Given the description of an element on the screen output the (x, y) to click on. 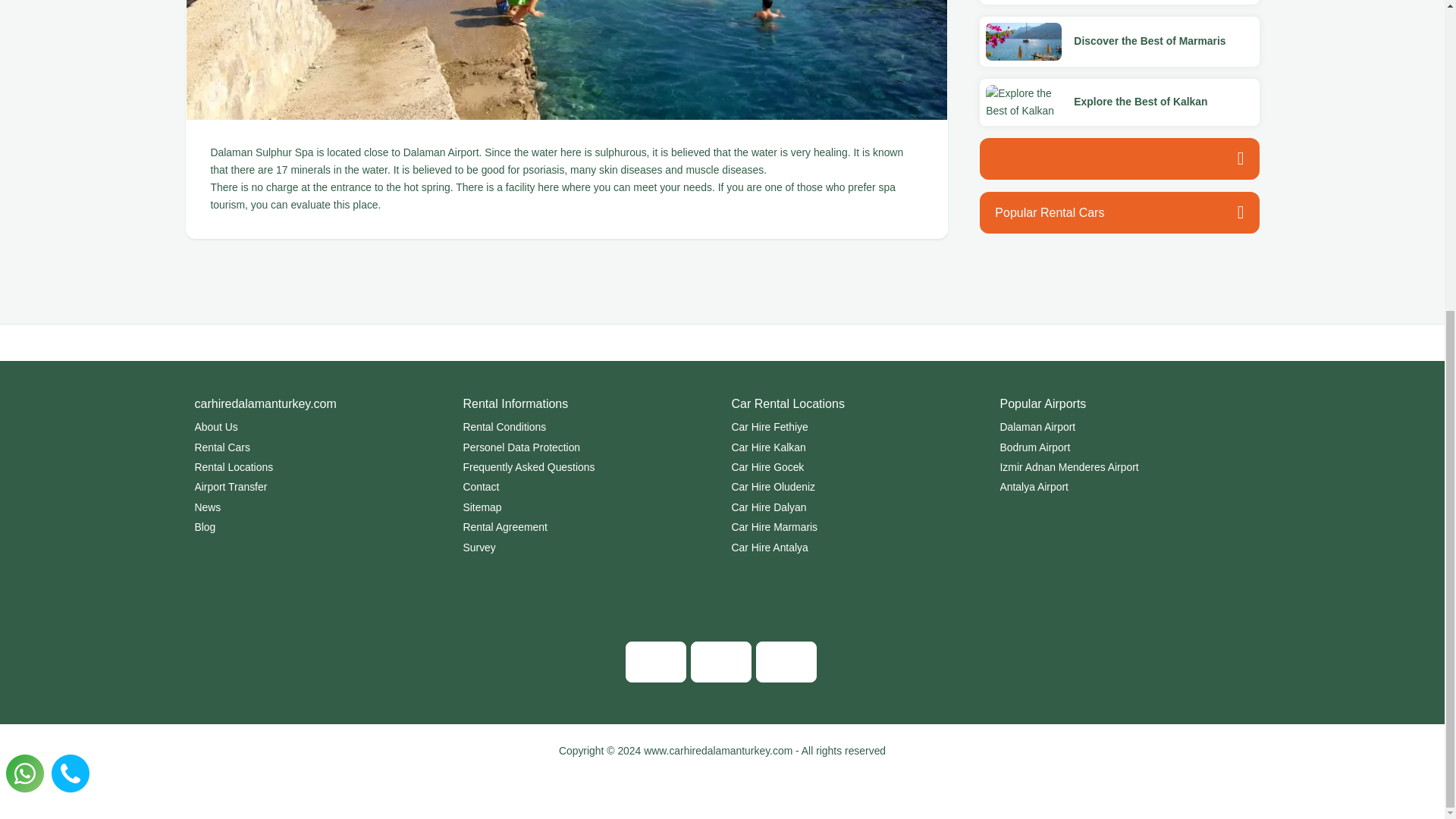
Popular Rental Cars (1119, 212)
About Us (318, 426)
Discover the Best of Marmaris (1149, 40)
Explore the Best of Kalkan (1140, 101)
